Given the description of an element on the screen output the (x, y) to click on. 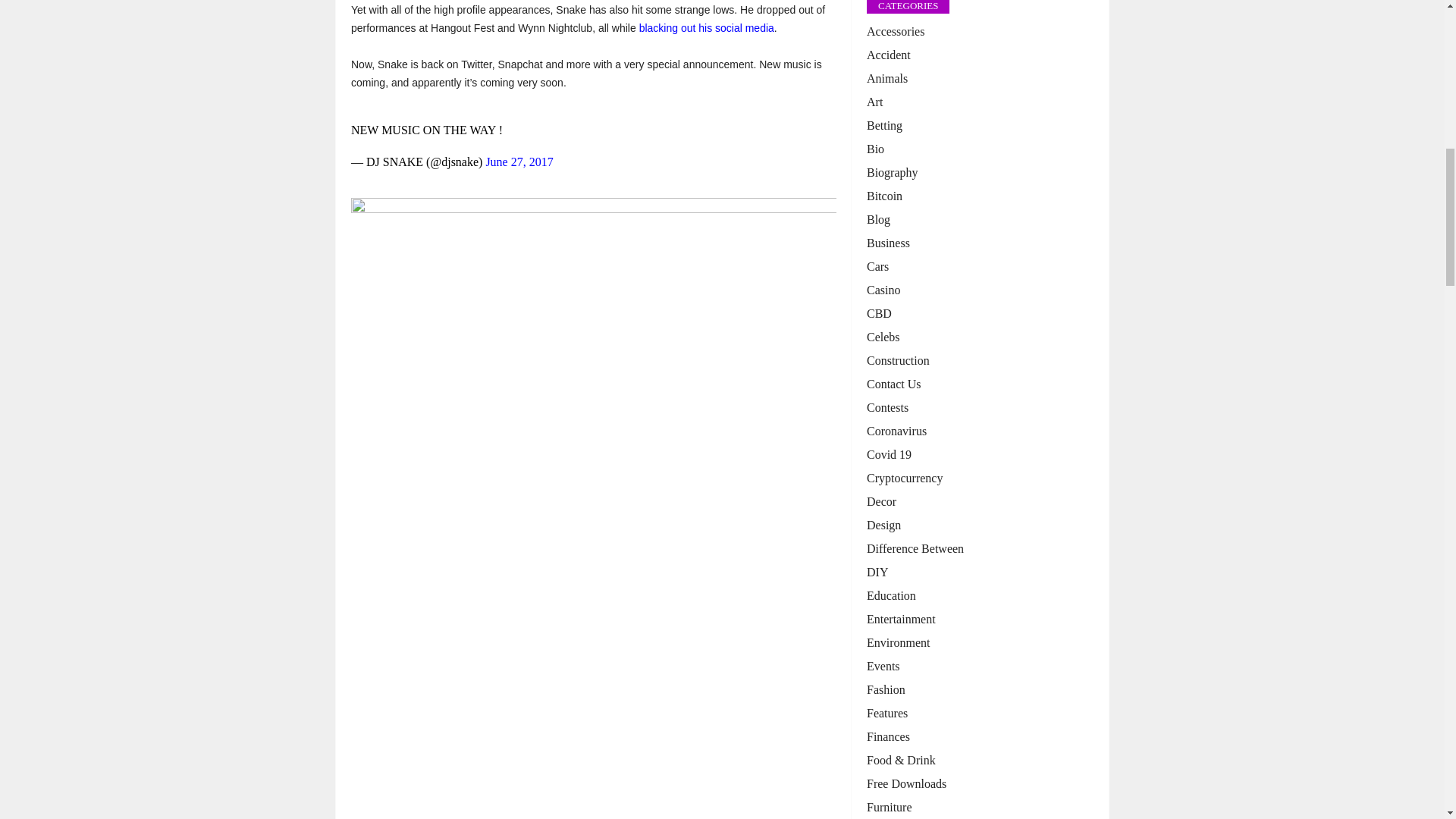
blacking out his social media (706, 28)
June 27, 2017 (518, 161)
